Given the description of an element on the screen output the (x, y) to click on. 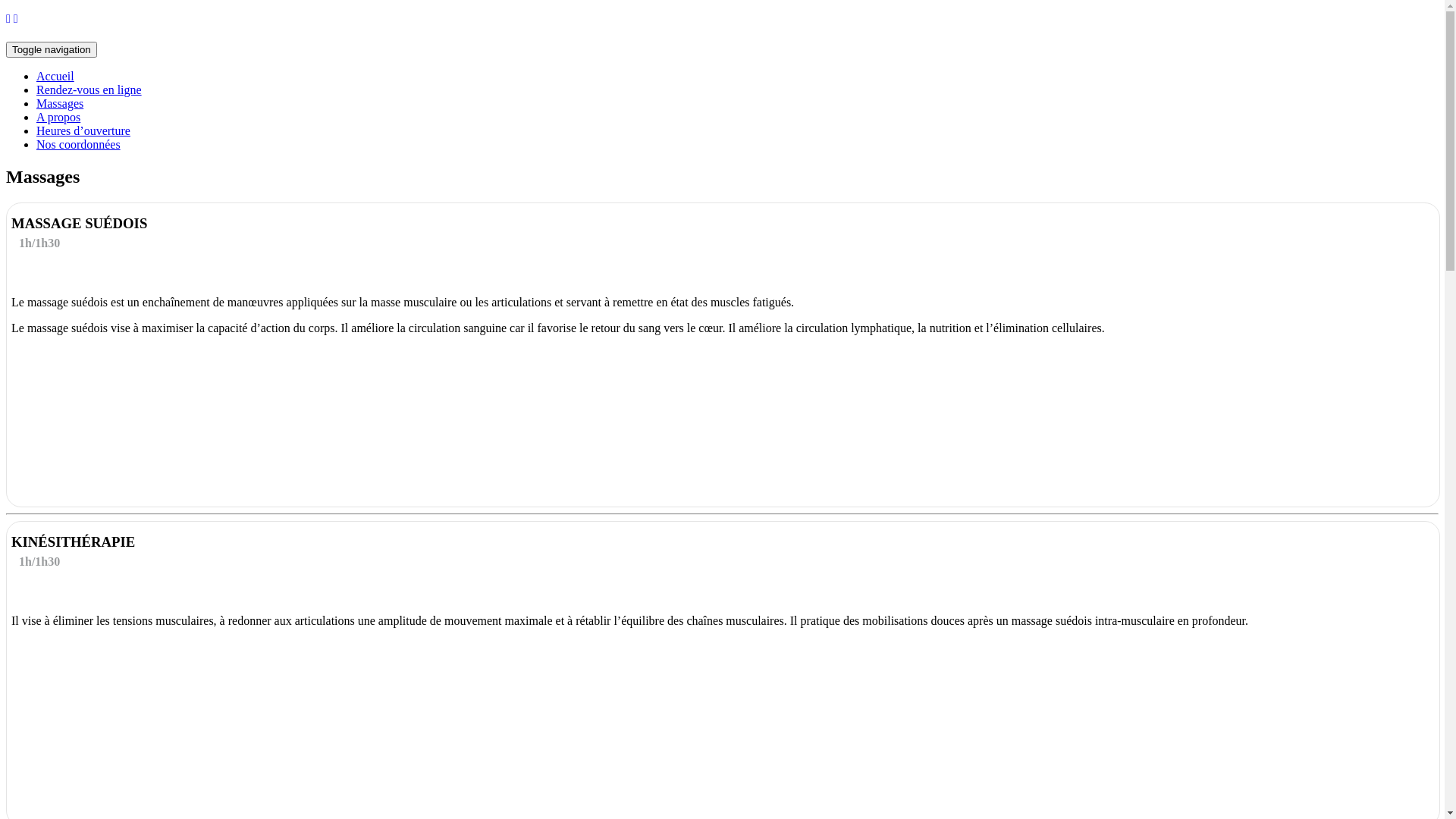
A propos Element type: text (58, 116)
Toggle navigation Element type: text (51, 49)
Accueil Element type: text (55, 75)
Rendez-vous en ligne Element type: text (88, 89)
Massages Element type: text (59, 103)
